Given the description of an element on the screen output the (x, y) to click on. 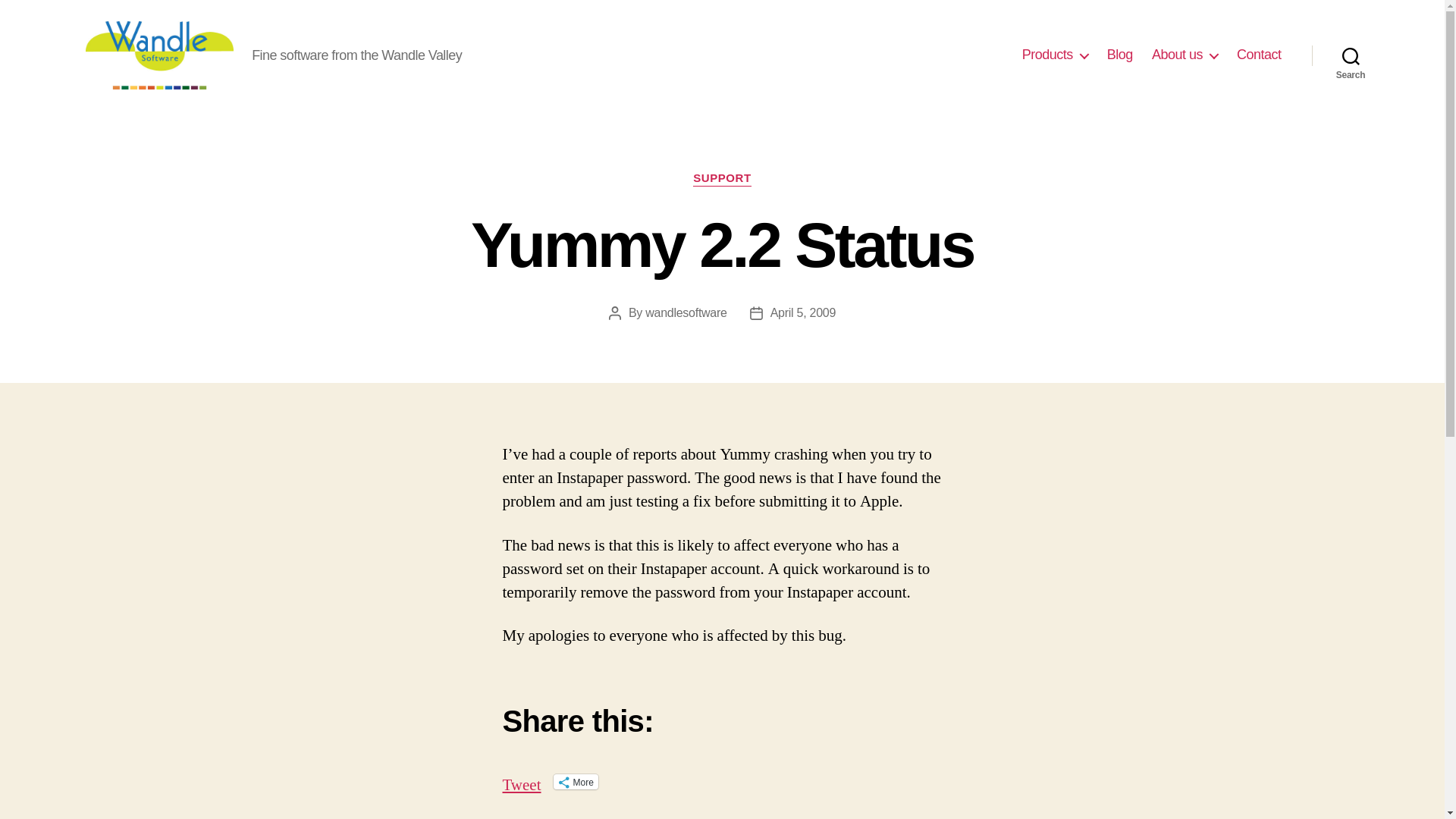
Products (1054, 54)
Contact (1258, 54)
April 5, 2009 (802, 312)
Tweet (521, 780)
Blog (1119, 54)
Search (1350, 55)
SUPPORT (722, 178)
About us (1184, 54)
wandlesoftware (685, 312)
More (575, 781)
